Given the description of an element on the screen output the (x, y) to click on. 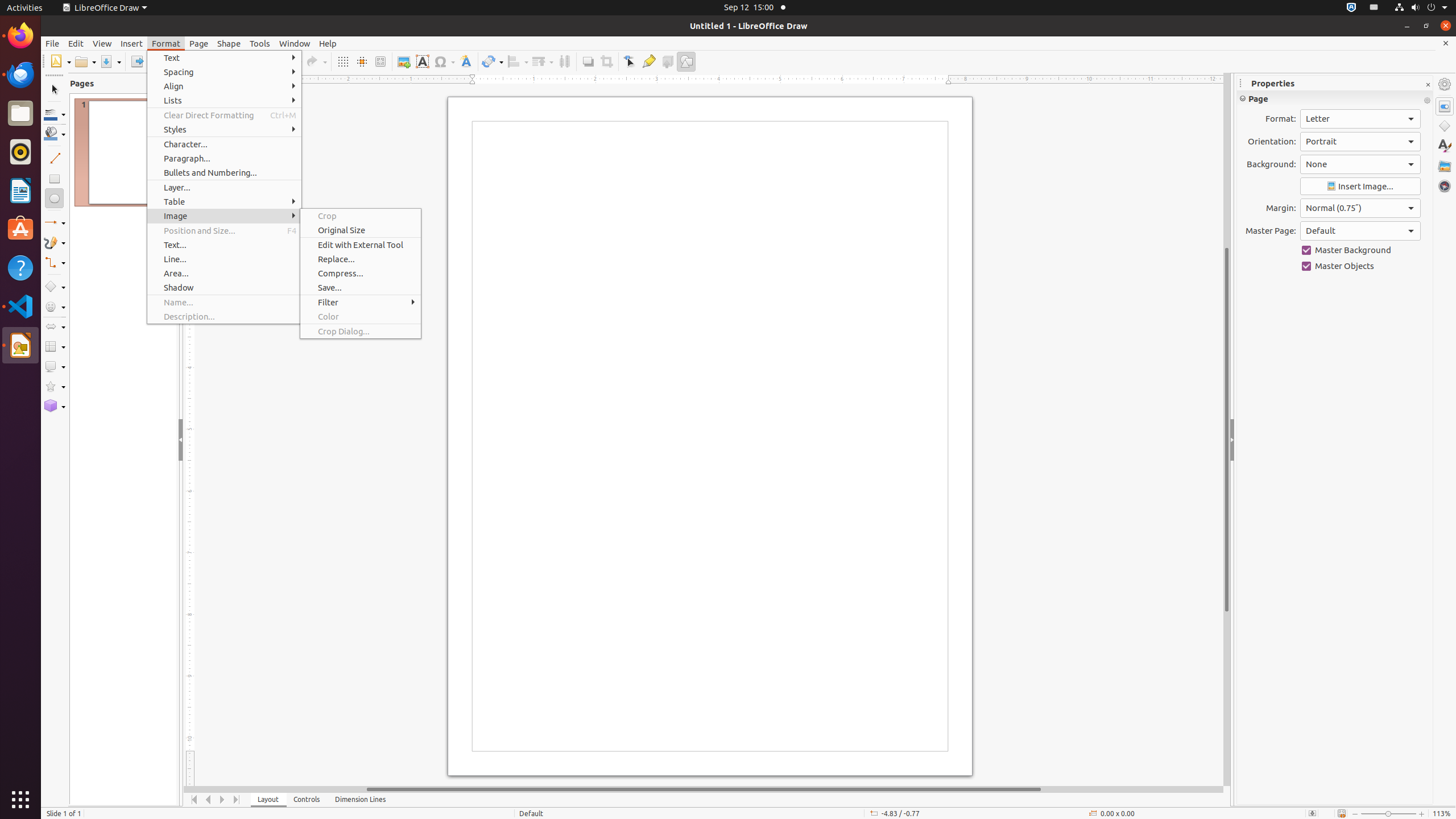
Files Element type: push-button (20, 113)
Properties Element type: radio-button (1444, 106)
Orientation: Element type: combo-box (1360, 141)
Ubuntu Software Element type: push-button (20, 229)
Shape Element type: menu (228, 43)
